Given the description of an element on the screen output the (x, y) to click on. 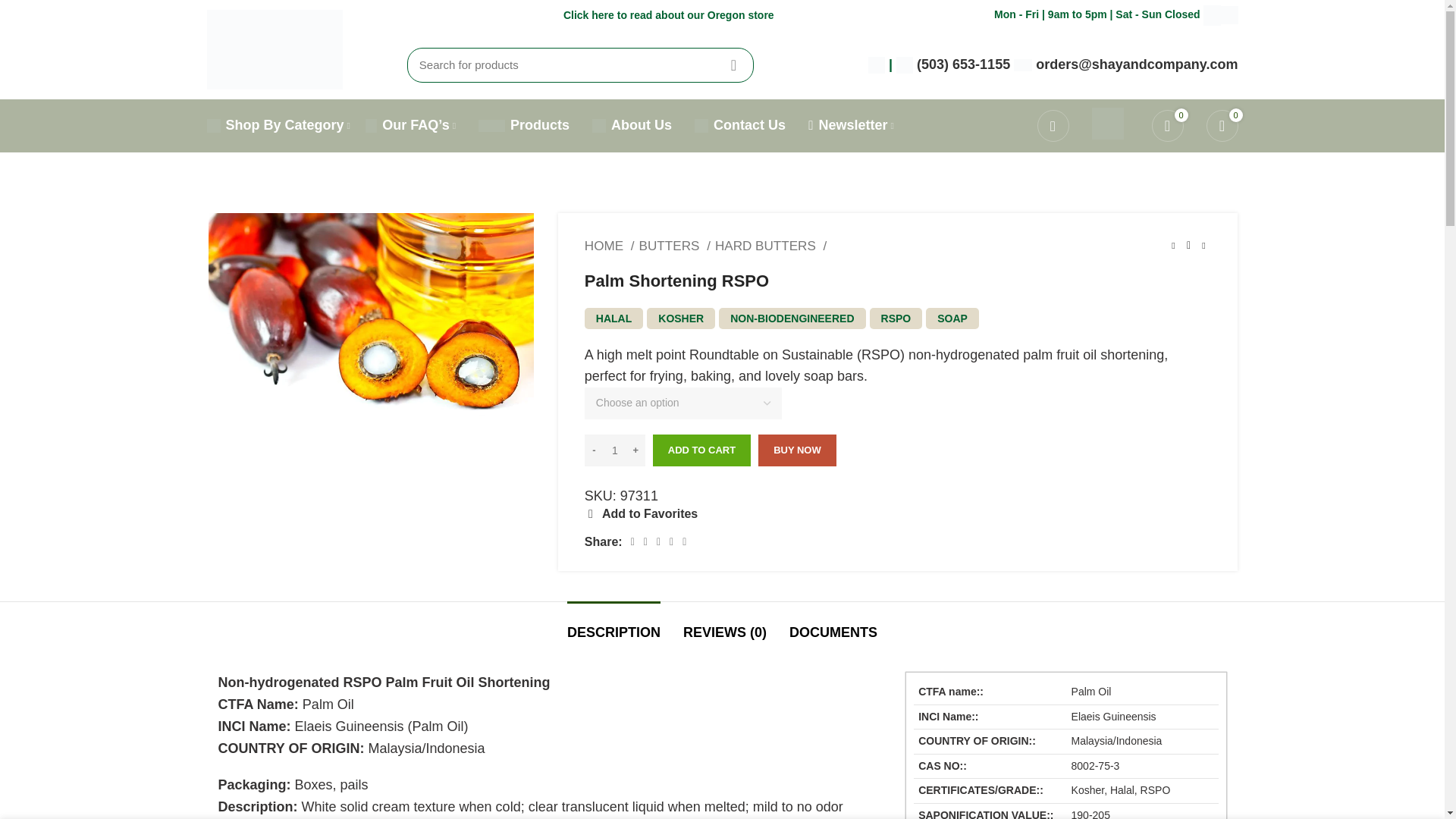
My Favorites (1166, 125)
Shopping cart (1221, 125)
My account (1053, 125)
Search for products (580, 63)
Click here to read about our Oregon store (668, 15)
